Given the description of an element on the screen output the (x, y) to click on. 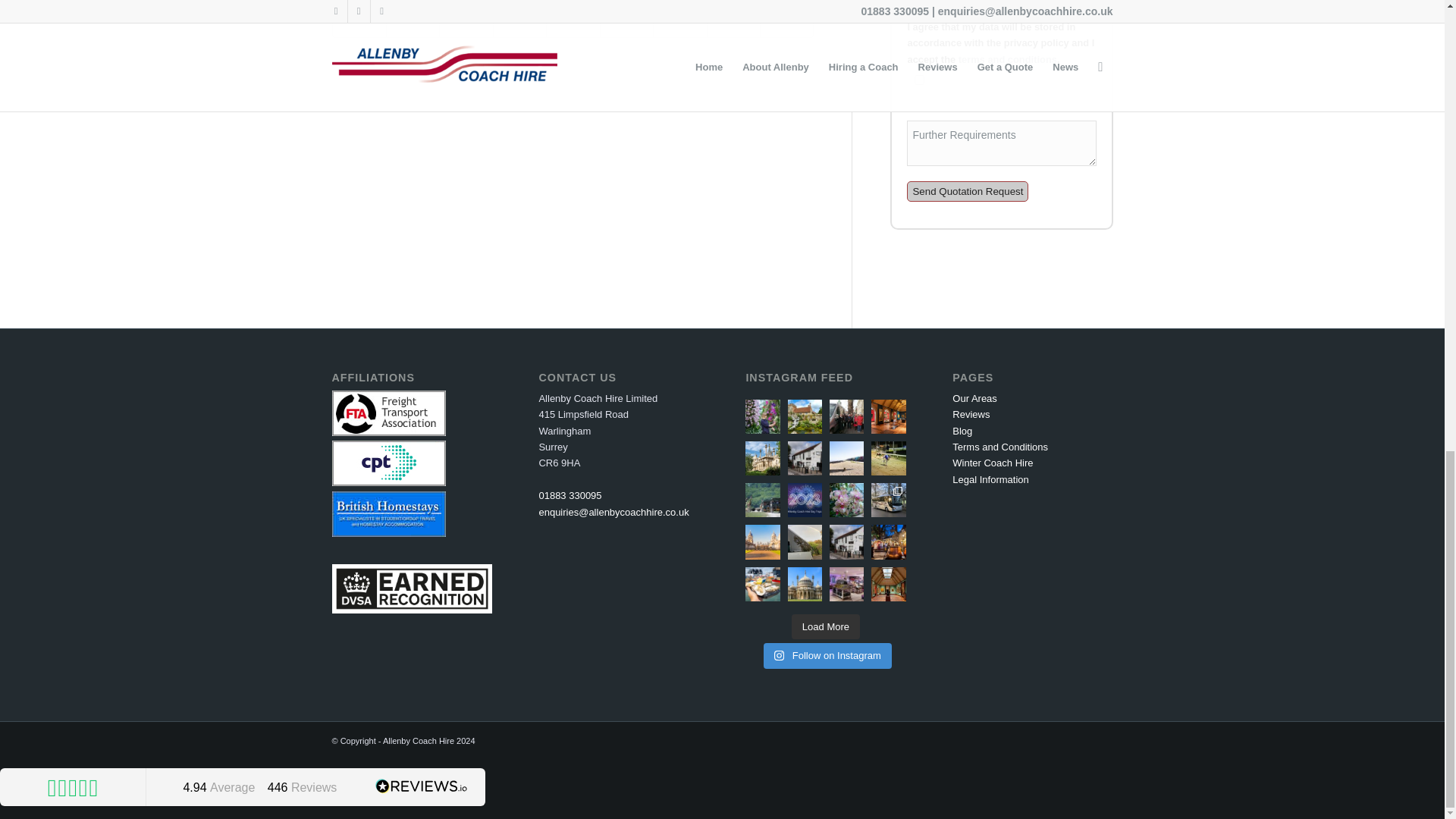
on (919, 80)
Send Quotation Request (967, 190)
Send Quotation Request (967, 190)
terms and conditions (1007, 59)
